Given the description of an element on the screen output the (x, y) to click on. 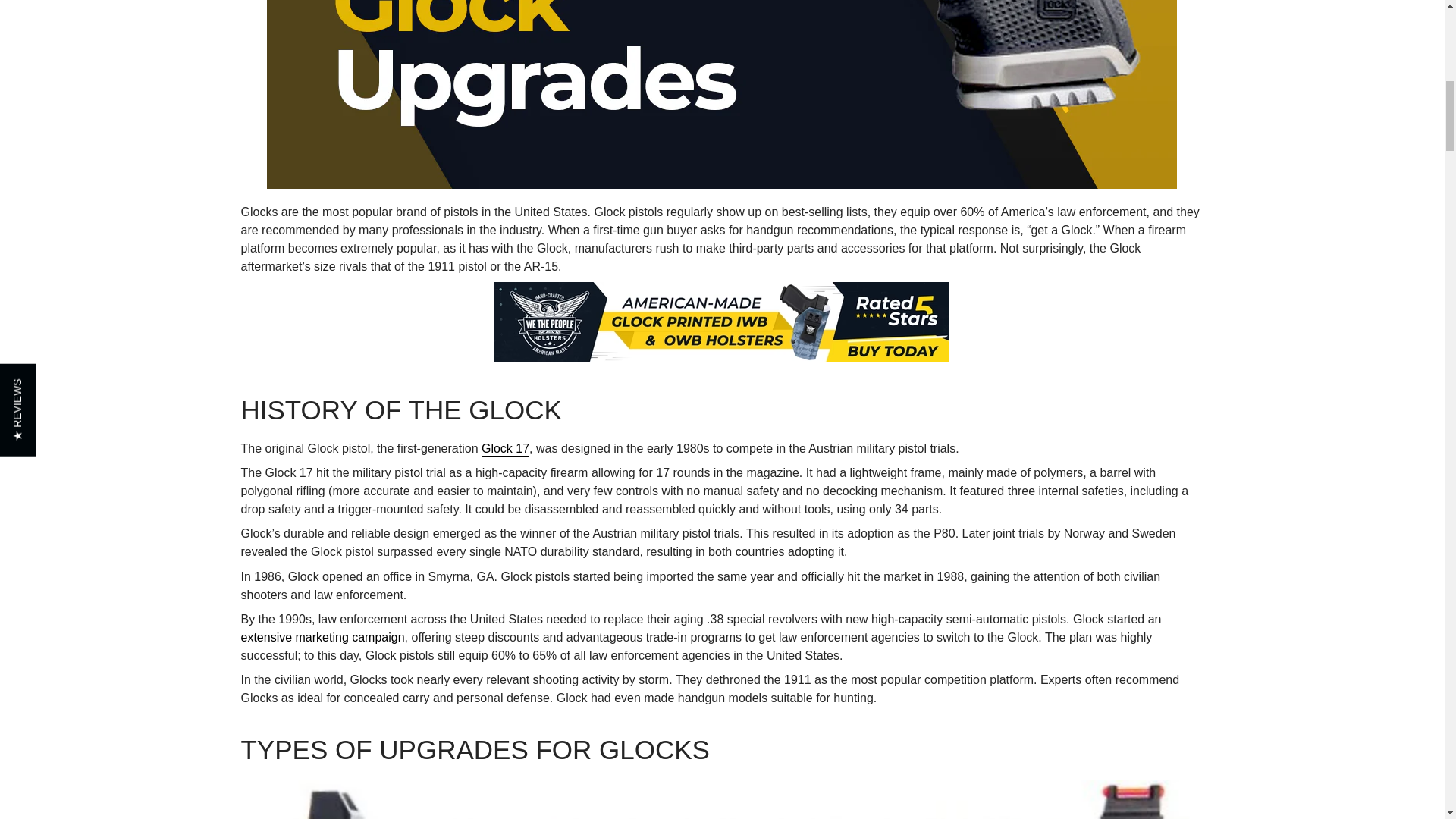
glock holsters (722, 359)
